Given the description of an element on the screen output the (x, y) to click on. 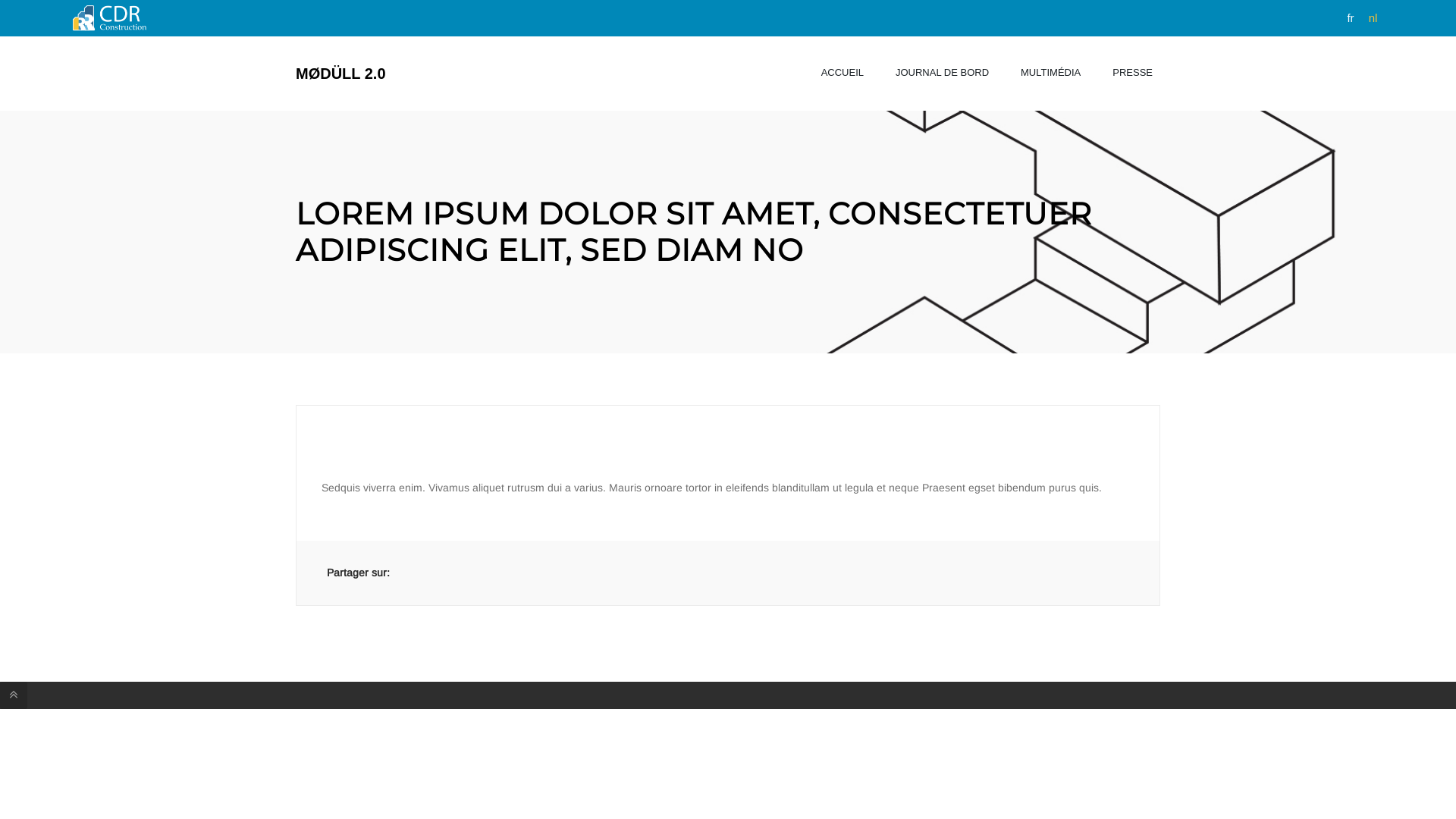
ACCUEIL Element type: text (842, 72)
PRESSE Element type: text (1132, 72)
JOURNAL DE BORD Element type: text (942, 72)
fr Element type: text (1349, 17)
Back to Top Element type: hover (13, 695)
nl Element type: text (1372, 17)
